Given the description of an element on the screen output the (x, y) to click on. 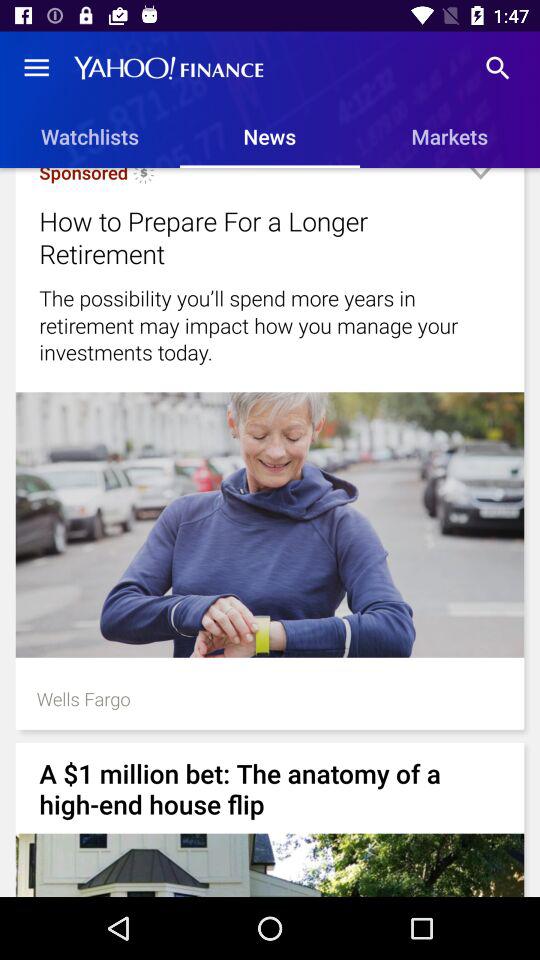
turn on item below the how to prepare icon (269, 325)
